Given the description of an element on the screen output the (x, y) to click on. 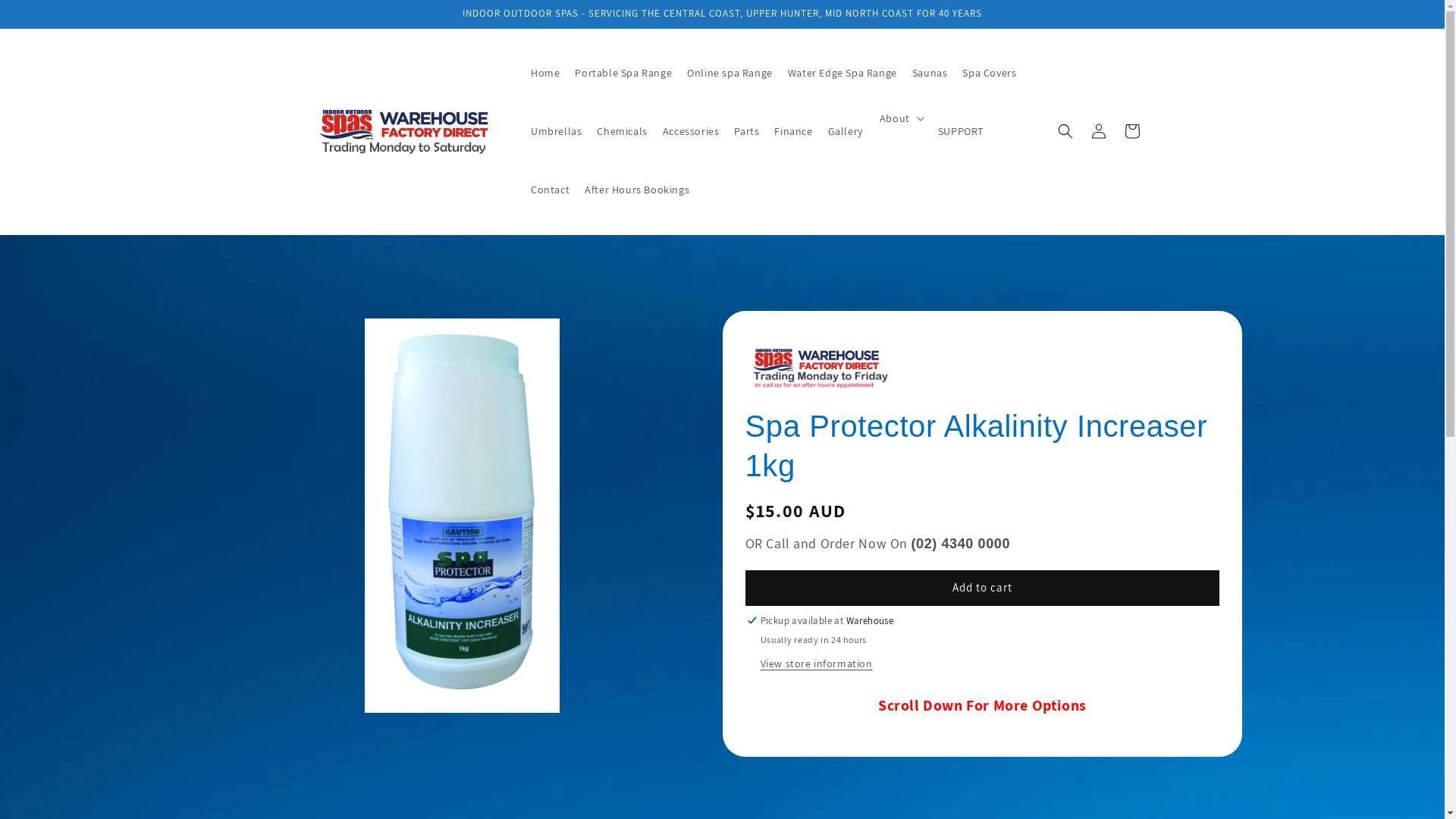
Log in Element type: text (1097, 130)
Water Edge Spa Range Element type: text (842, 72)
Online spa Range Element type: text (729, 72)
Spa Covers Element type: text (988, 72)
Chemicals Element type: text (621, 131)
Umbrellas Element type: text (556, 131)
Parts Element type: text (746, 131)
View store information Element type: text (815, 663)
Portable Spa Range Element type: text (623, 72)
After Hours Bookings Element type: text (636, 189)
Accessories Element type: text (691, 131)
Cart Element type: text (1131, 130)
Contact Element type: text (550, 189)
Home Element type: text (545, 72)
Saunas Element type: text (929, 72)
SUPPORT Element type: text (960, 131)
Add to cart Element type: text (981, 587)
Gallery Element type: text (845, 131)
Scroll Down For More Options Element type: text (982, 704)
Finance Element type: text (792, 131)
